Given the description of an element on the screen output the (x, y) to click on. 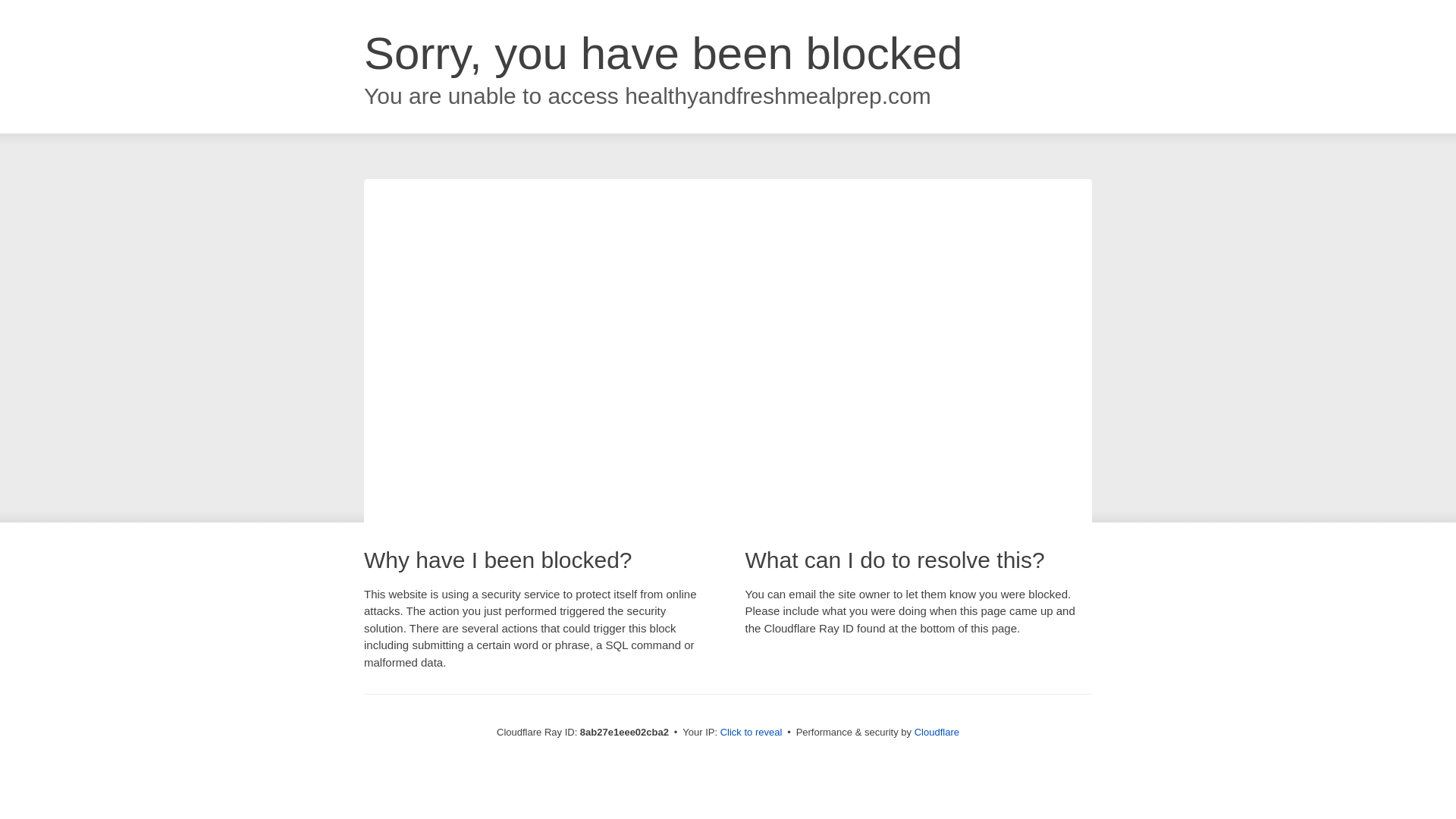
Click to reveal (751, 732)
Cloudflare (936, 731)
